Given the description of an element on the screen output the (x, y) to click on. 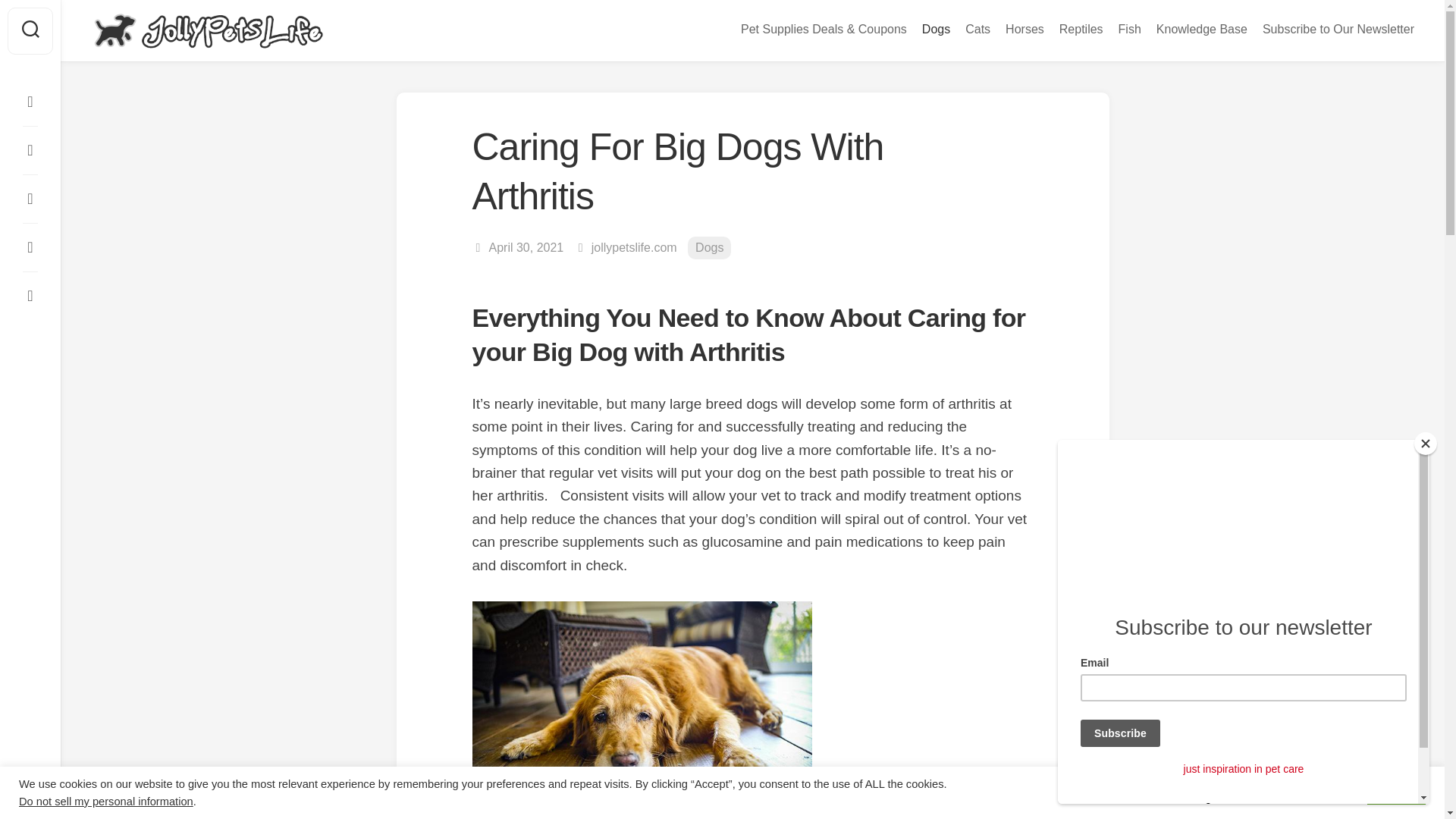
Subscribe to Our Newsletter (1337, 29)
Dogs (708, 248)
Posts by jollypetslife.com (634, 246)
Dogs (935, 29)
Fish (1129, 29)
Cats (977, 29)
Knowledge Base (1201, 29)
Horses (1024, 29)
jollypetslife.com (634, 246)
Reptiles (1081, 29)
